Given the description of an element on the screen output the (x, y) to click on. 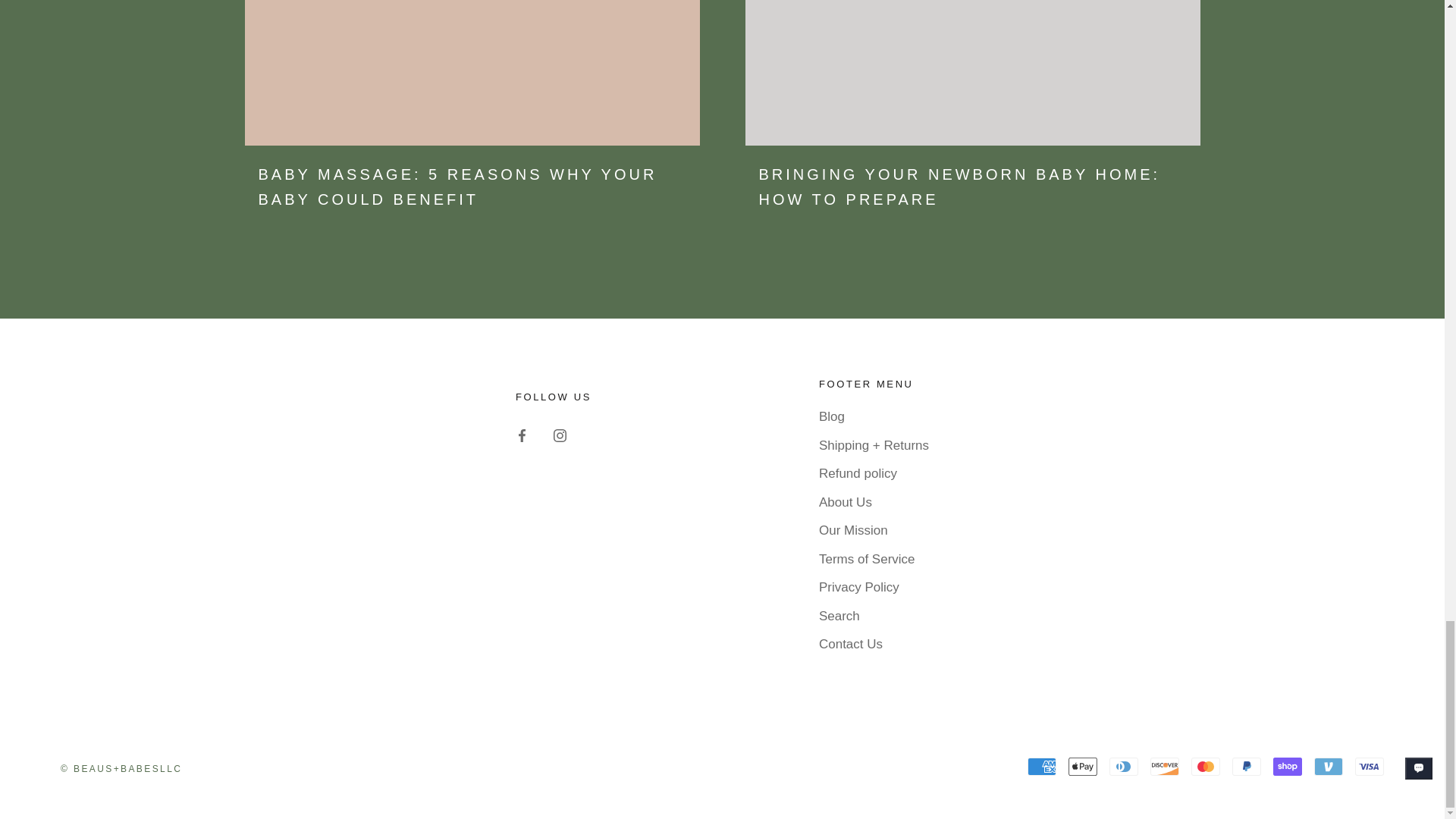
Mastercard (1205, 766)
Shop Pay (1286, 766)
Discover (1164, 766)
Apple Pay (1082, 766)
American Express (1042, 766)
Venmo (1328, 766)
Visa (1369, 766)
Diners Club (1123, 766)
PayPal (1245, 766)
